Given the description of an element on the screen output the (x, y) to click on. 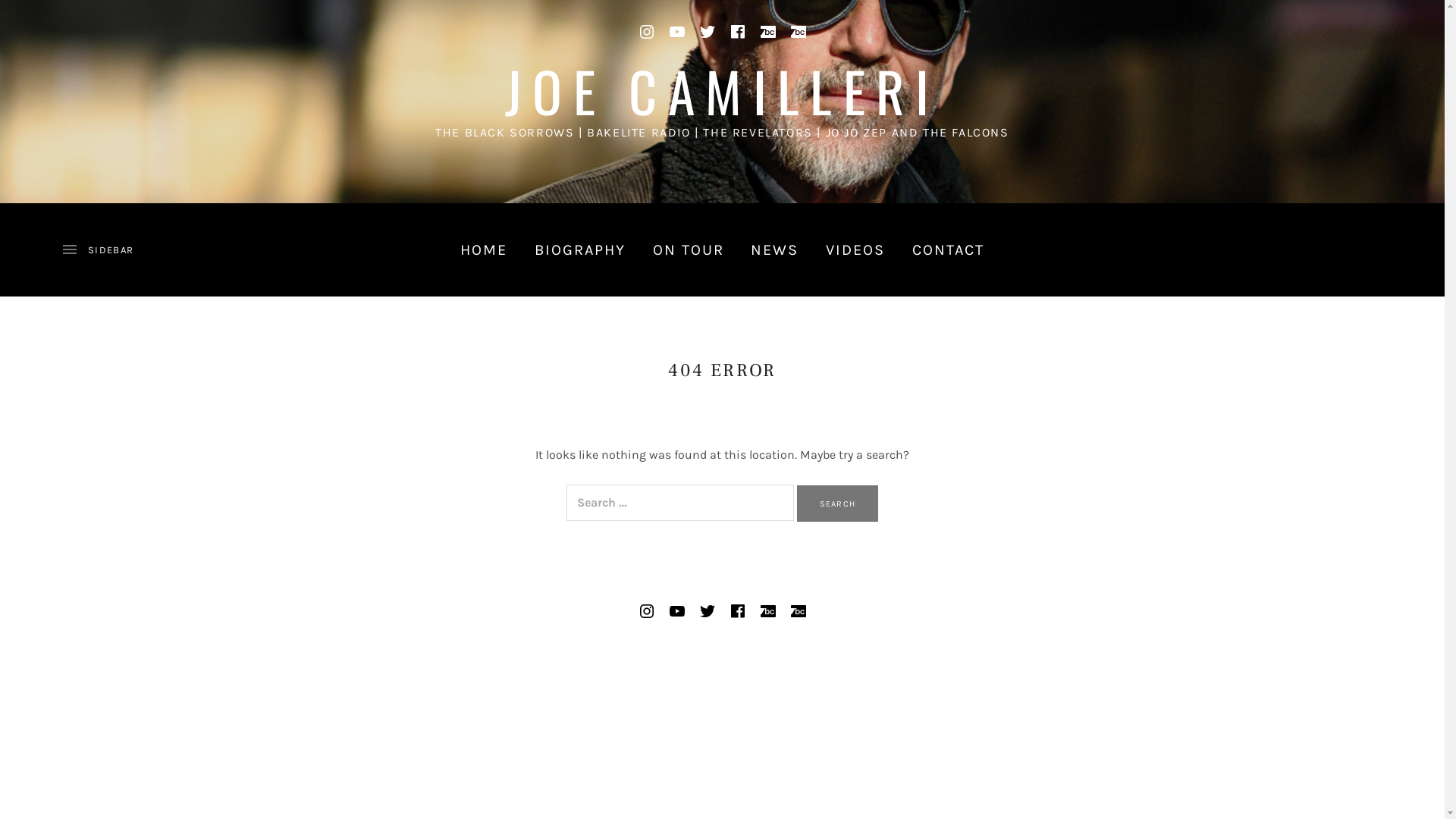
Bandcamp Bakelite Radio Element type: text (767, 611)
Bandcamp Bakelite Radio Element type: text (767, 31)
YouTube Element type: text (676, 611)
JOE CAMILLERI Element type: text (722, 90)
Bandcamp The Black Sorrows Element type: text (797, 31)
Bandcamp The Black Sorrows Element type: text (797, 611)
BIOGRAPHY Element type: text (580, 249)
VIDEOS Element type: text (855, 249)
Instagram Element type: text (646, 611)
Twitter Element type: text (706, 31)
Twitter Element type: text (706, 611)
Instagram Element type: text (646, 31)
Search Element type: text (837, 503)
CONTACT Element type: text (948, 249)
Facebook Element type: text (737, 31)
NEWS Element type: text (774, 249)
HOME Element type: text (483, 249)
Facebook Element type: text (737, 611)
YouTube Element type: text (676, 31)
ON TOUR Element type: text (687, 249)
